Given the description of an element on the screen output the (x, y) to click on. 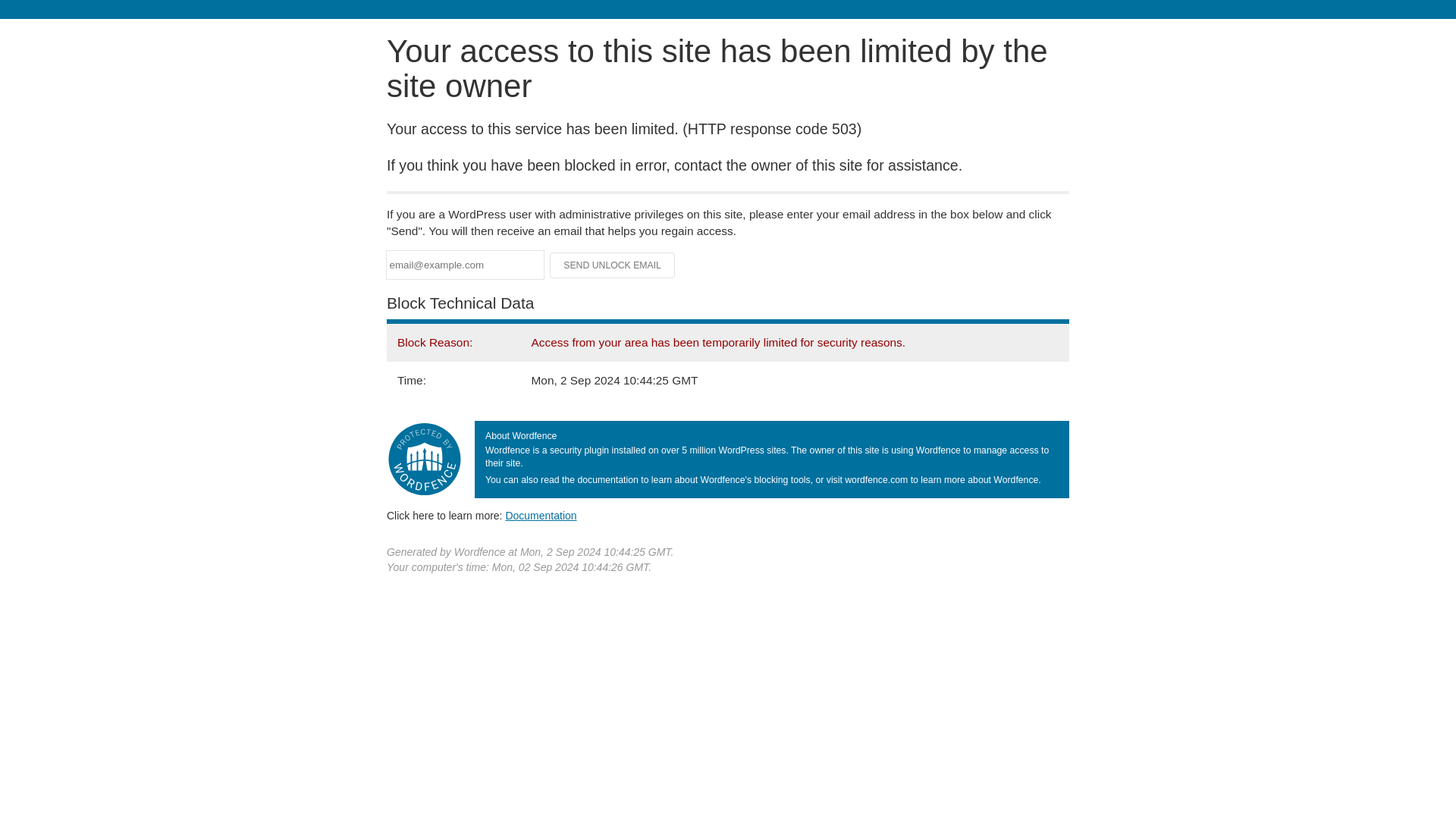
Send Unlock Email (612, 265)
Documentation (540, 515)
Send Unlock Email (612, 265)
